Given the description of an element on the screen output the (x, y) to click on. 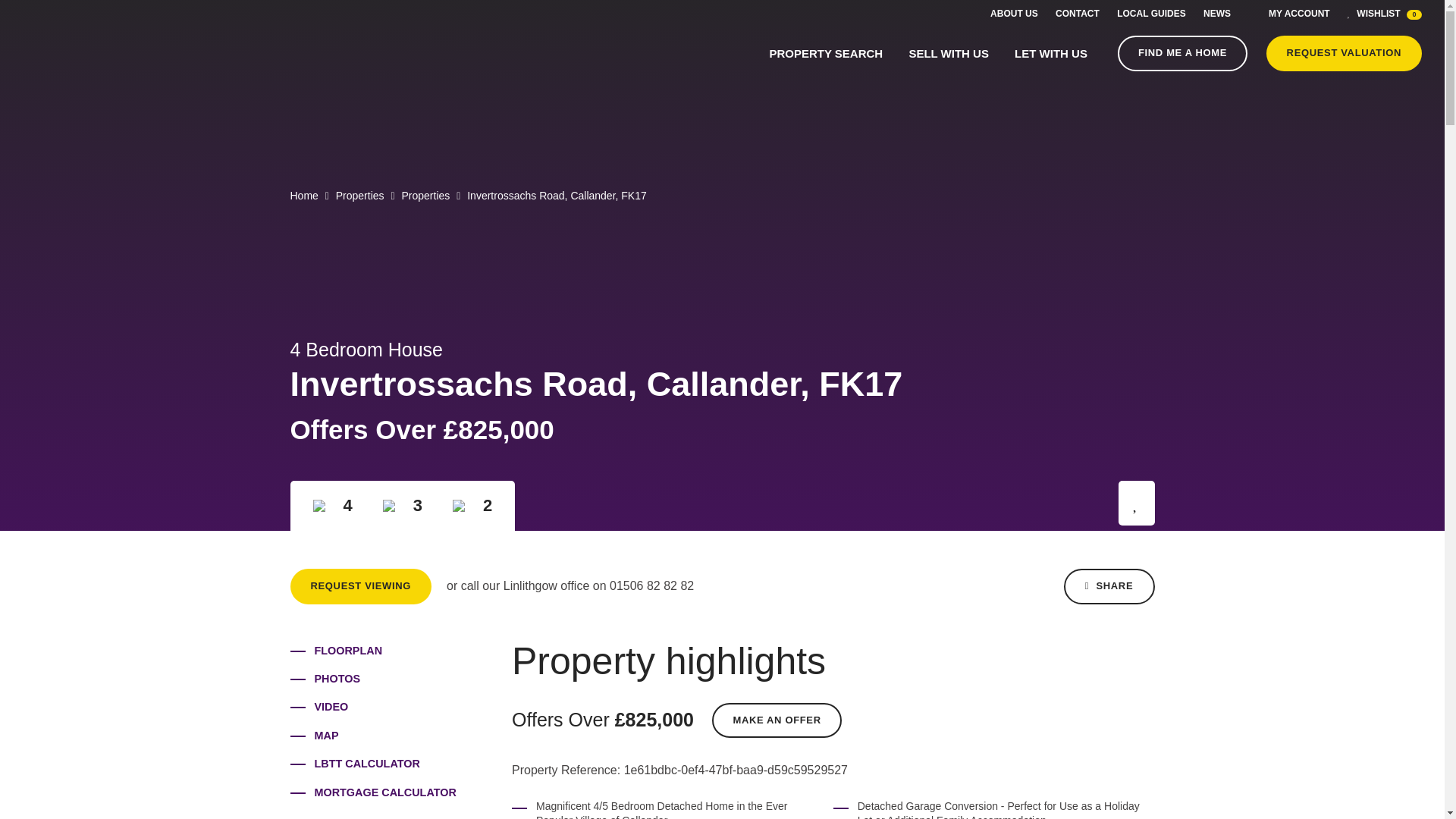
WISHLIST 0 (1385, 13)
LBTT CALCULATOR (366, 763)
MAKE AN OFFER (776, 720)
MORTGAGE CALCULATOR (384, 792)
MAP (325, 735)
MAP (325, 735)
ABOUT US (1014, 13)
SELL WITH US (948, 53)
Properties (360, 195)
CONTACT (1077, 13)
